Given the description of an element on the screen output the (x, y) to click on. 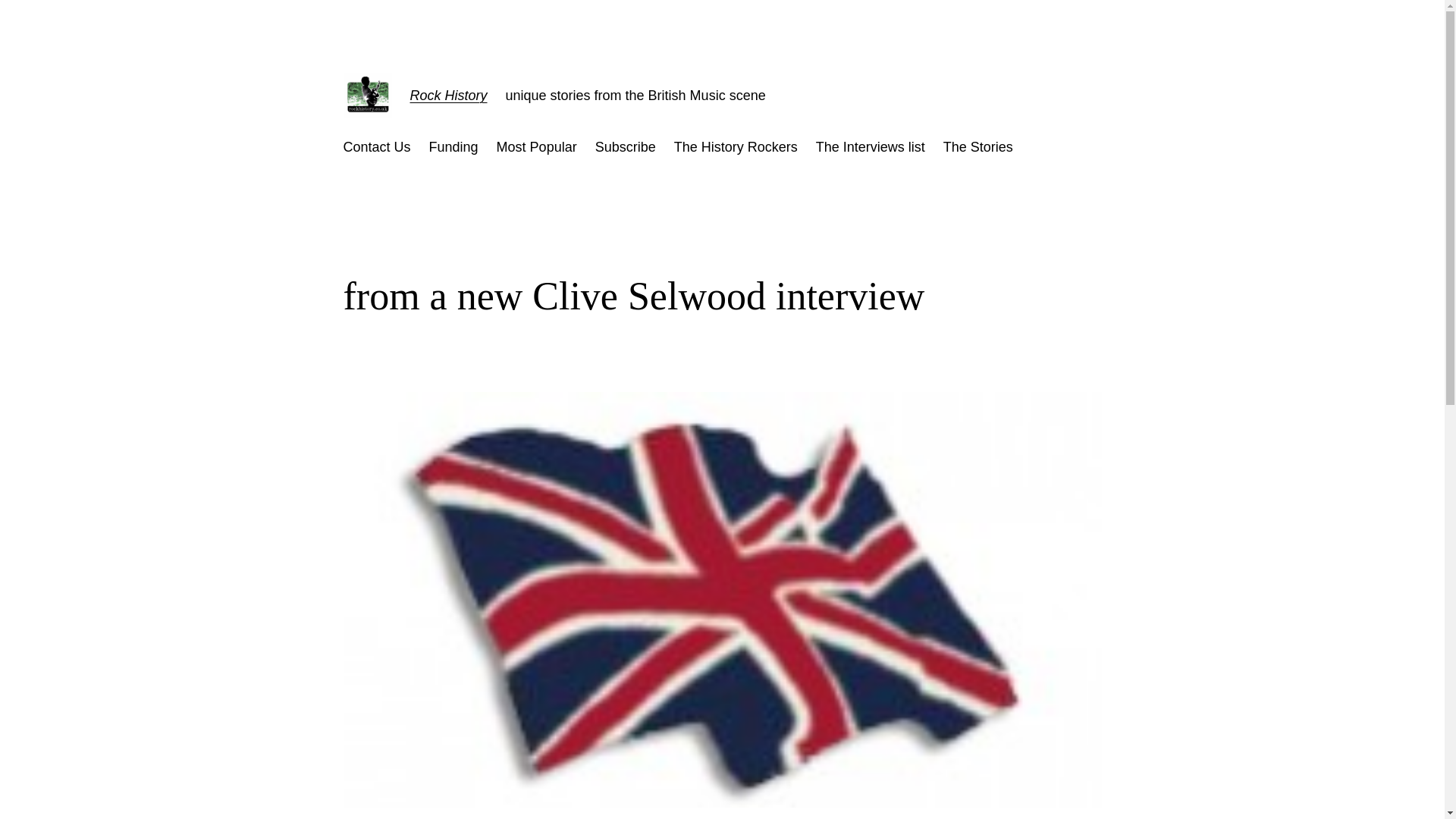
Rock History (447, 95)
Contact Us (376, 147)
Subscribe (625, 147)
Most Popular (536, 147)
The Interviews list (869, 147)
Funding (454, 147)
The Stories (978, 147)
The History Rockers (735, 147)
